Given the description of an element on the screen output the (x, y) to click on. 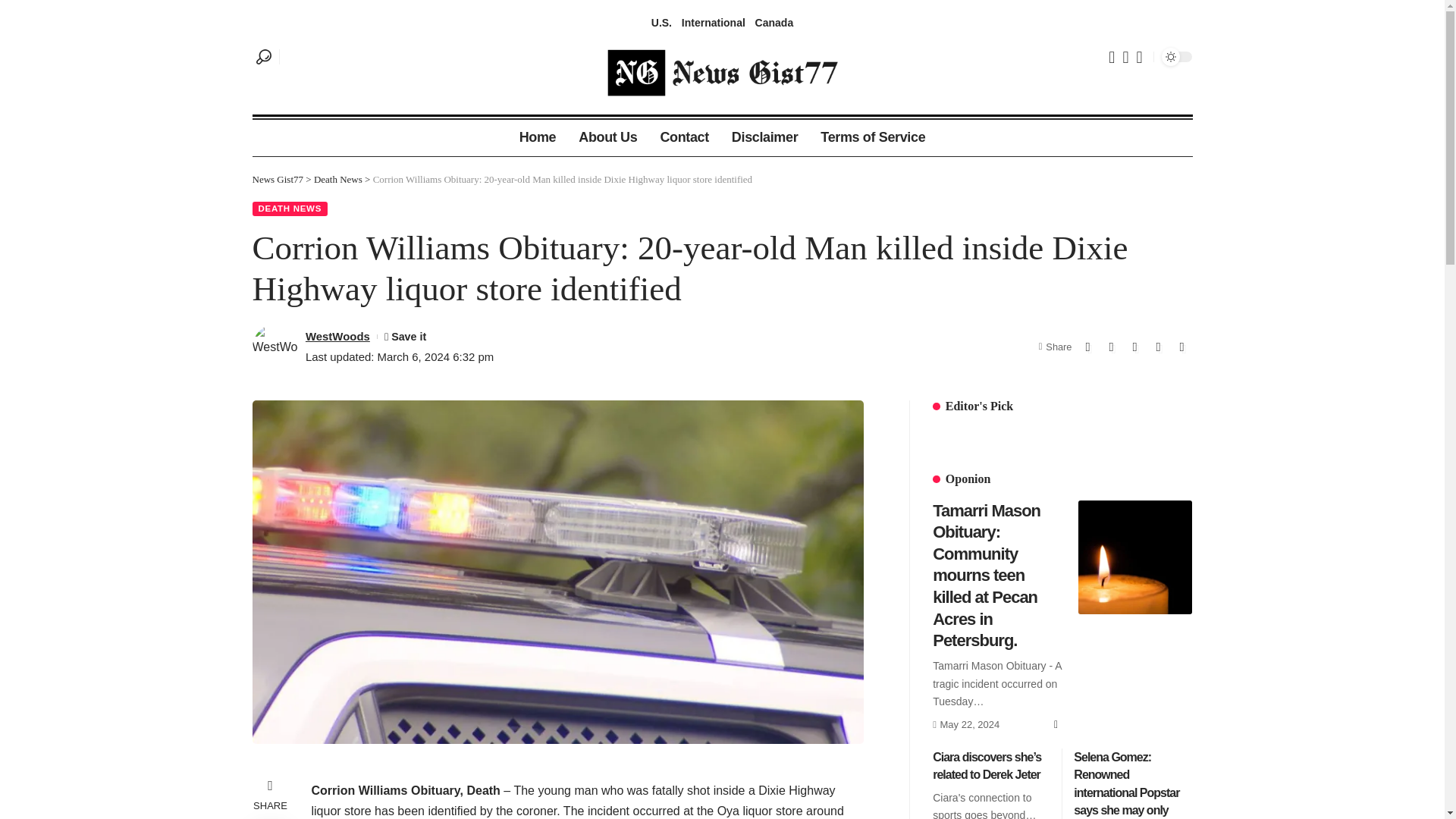
About Us (607, 137)
News Gist77 (276, 179)
Go to the Death News Category archives. (338, 179)
Disclaimer (764, 137)
International (713, 23)
Terms of Service (721, 23)
Canada (872, 137)
Go to News Gist77. (774, 23)
U.S. (276, 179)
Home (660, 23)
Contact (537, 137)
Death News (683, 137)
